Given the description of an element on the screen output the (x, y) to click on. 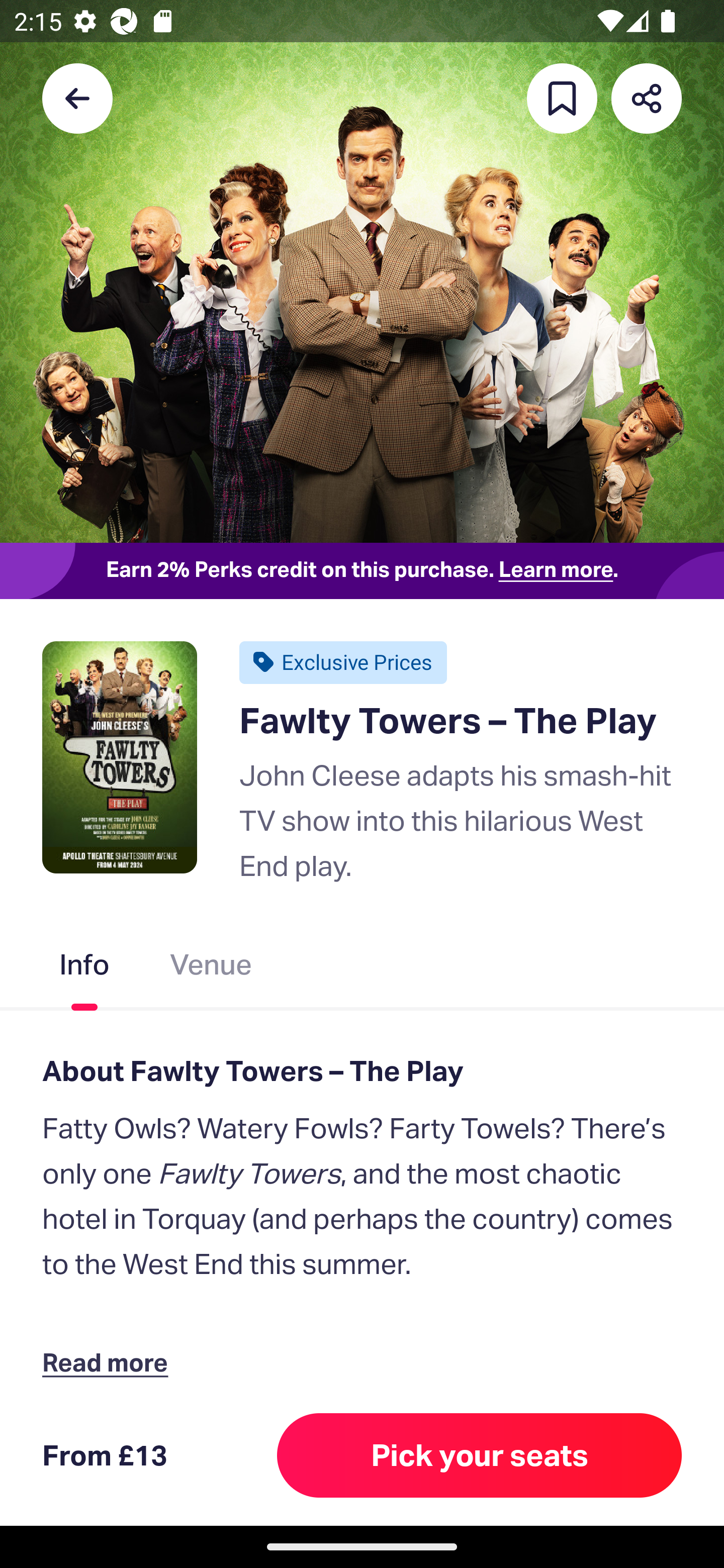
Earn 2% Perks credit on this purchase. Learn more. (362, 570)
Venue (210, 968)
About Fawlty Towers – The Play (361, 1070)
Read more (109, 1361)
Pick your seats (479, 1454)
